Given the description of an element on the screen output the (x, y) to click on. 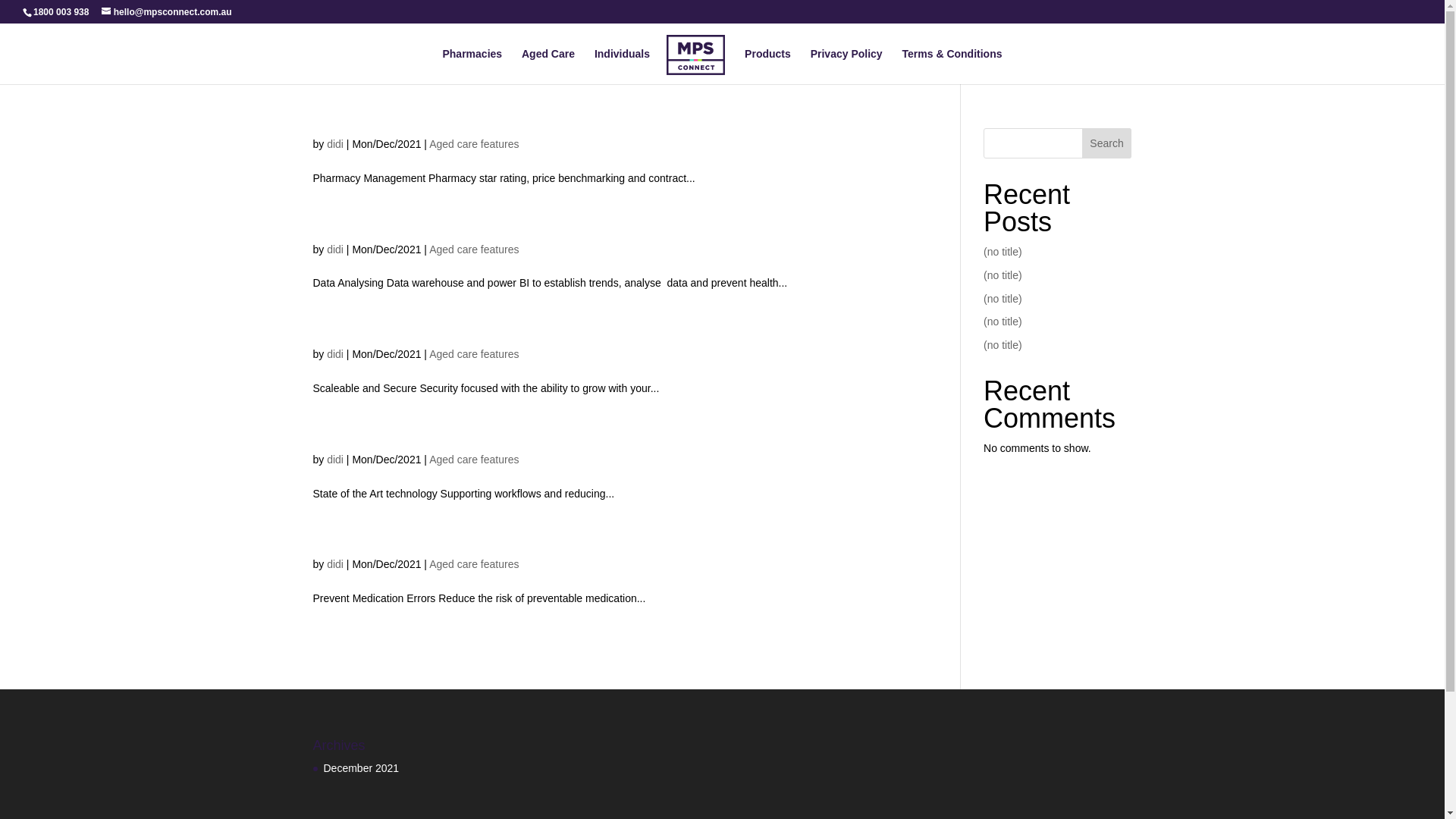
Individuals Element type: text (621, 66)
Aged care features Element type: text (473, 249)
Aged Care Element type: text (547, 66)
didi Element type: text (334, 249)
didi Element type: text (334, 354)
didi Element type: text (334, 459)
Pharmacies Element type: text (472, 66)
Privacy Policy Element type: text (846, 66)
Products Element type: text (767, 66)
Aged care features Element type: text (473, 564)
(no title) Element type: text (1002, 298)
didi Element type: text (334, 144)
(no title) Element type: text (1002, 344)
Search Element type: text (1107, 143)
hello@mpsconnect.com.au Element type: text (166, 11)
(no title) Element type: text (1002, 321)
Aged care features Element type: text (473, 354)
didi Element type: text (334, 564)
(no title) Element type: text (1002, 275)
December 2021 Element type: text (360, 768)
Terms & Conditions Element type: text (952, 66)
Aged care features Element type: text (473, 144)
Aged care features Element type: text (473, 459)
(no title) Element type: text (1002, 251)
